Given the description of an element on the screen output the (x, y) to click on. 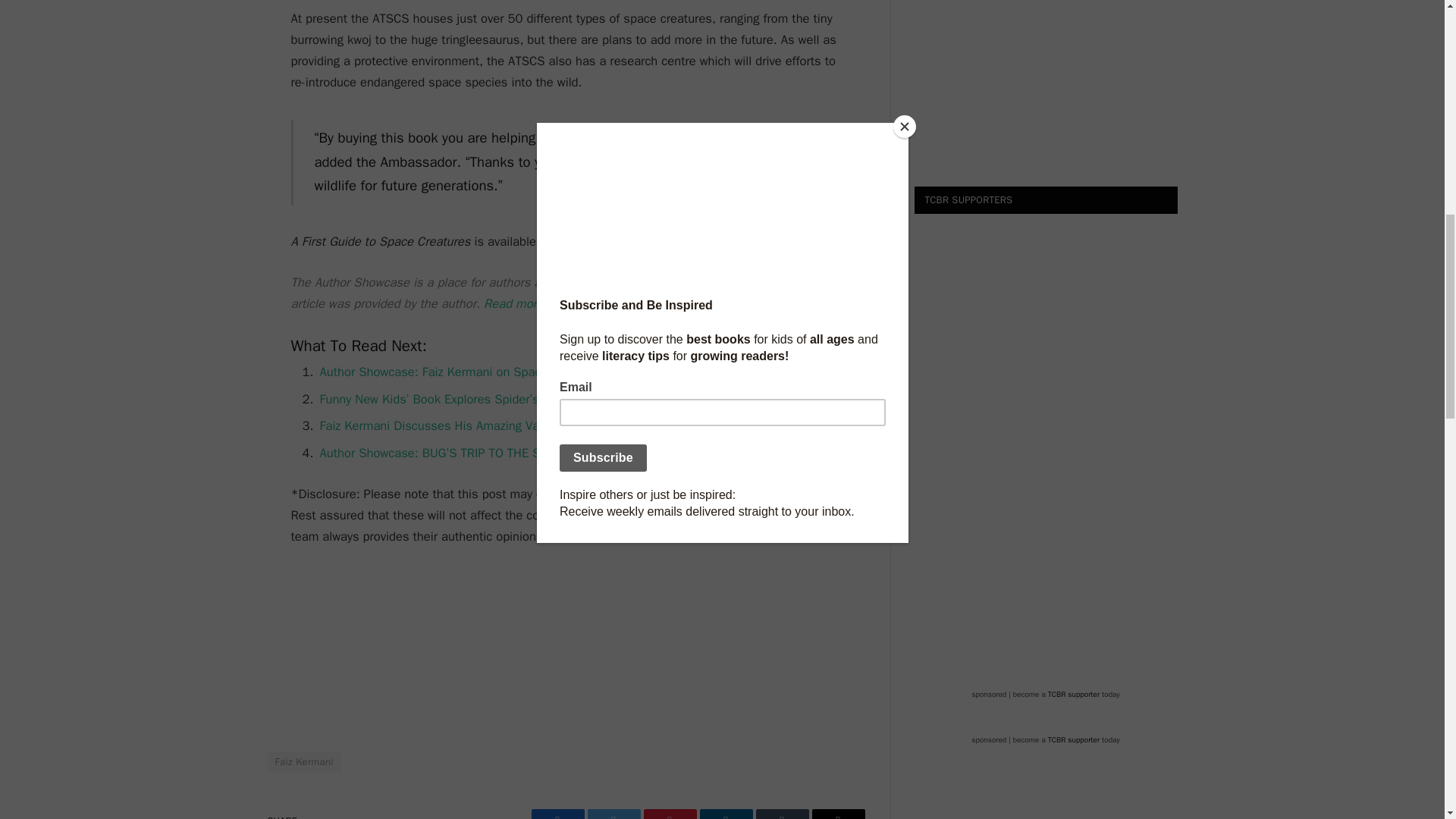
Faiz Kermani Discusses His Amazing Vacuum Cleaner Adventure (496, 425)
Author Showcase: Faiz Kermani on Space and Aliens (464, 371)
